Given the description of an element on the screen output the (x, y) to click on. 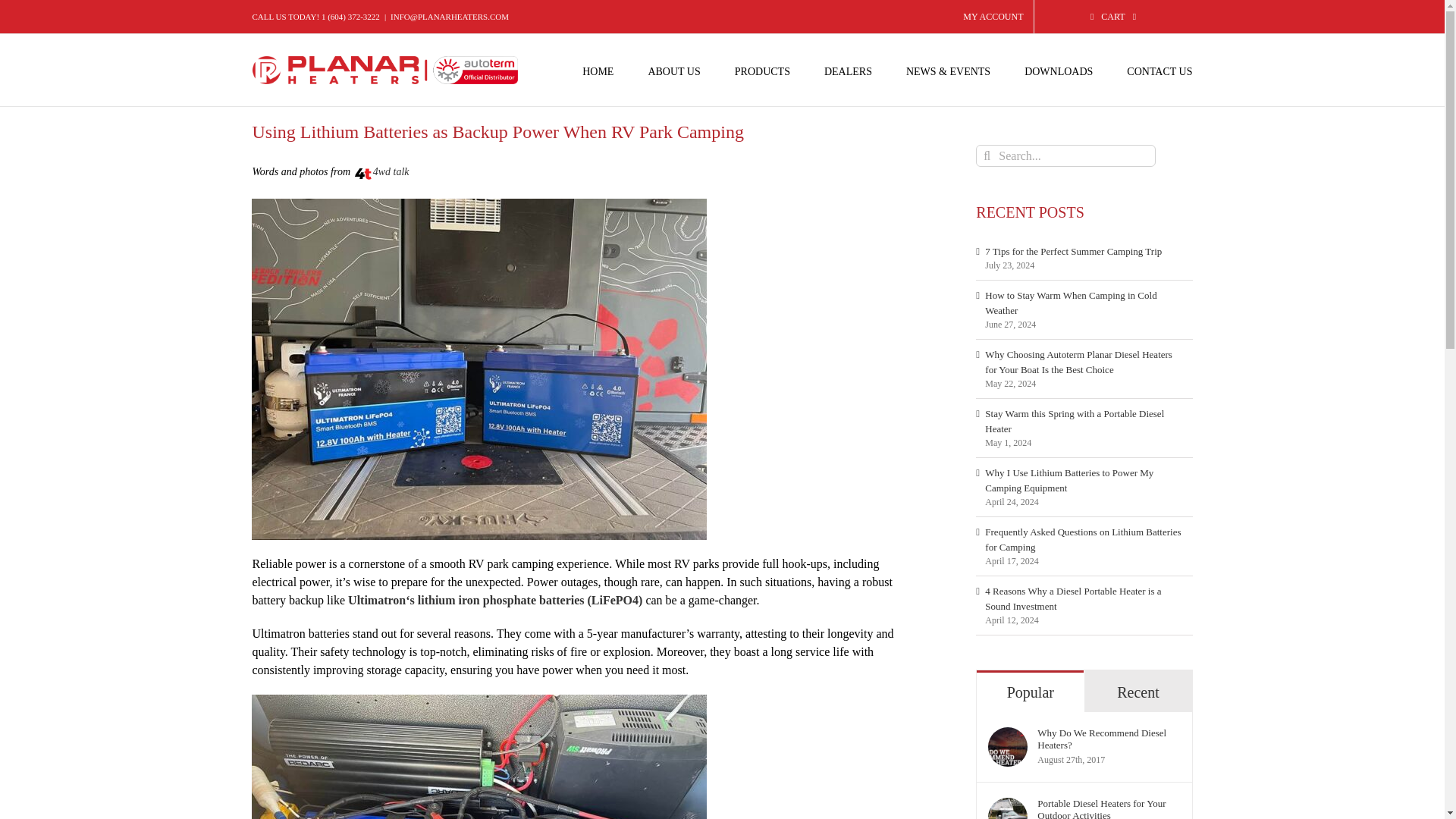
MY ACCOUNT (992, 16)
CART (1112, 16)
PRODUCTS (762, 69)
Log In (1068, 143)
ABOUT US (673, 69)
HOME (597, 69)
